Given the description of an element on the screen output the (x, y) to click on. 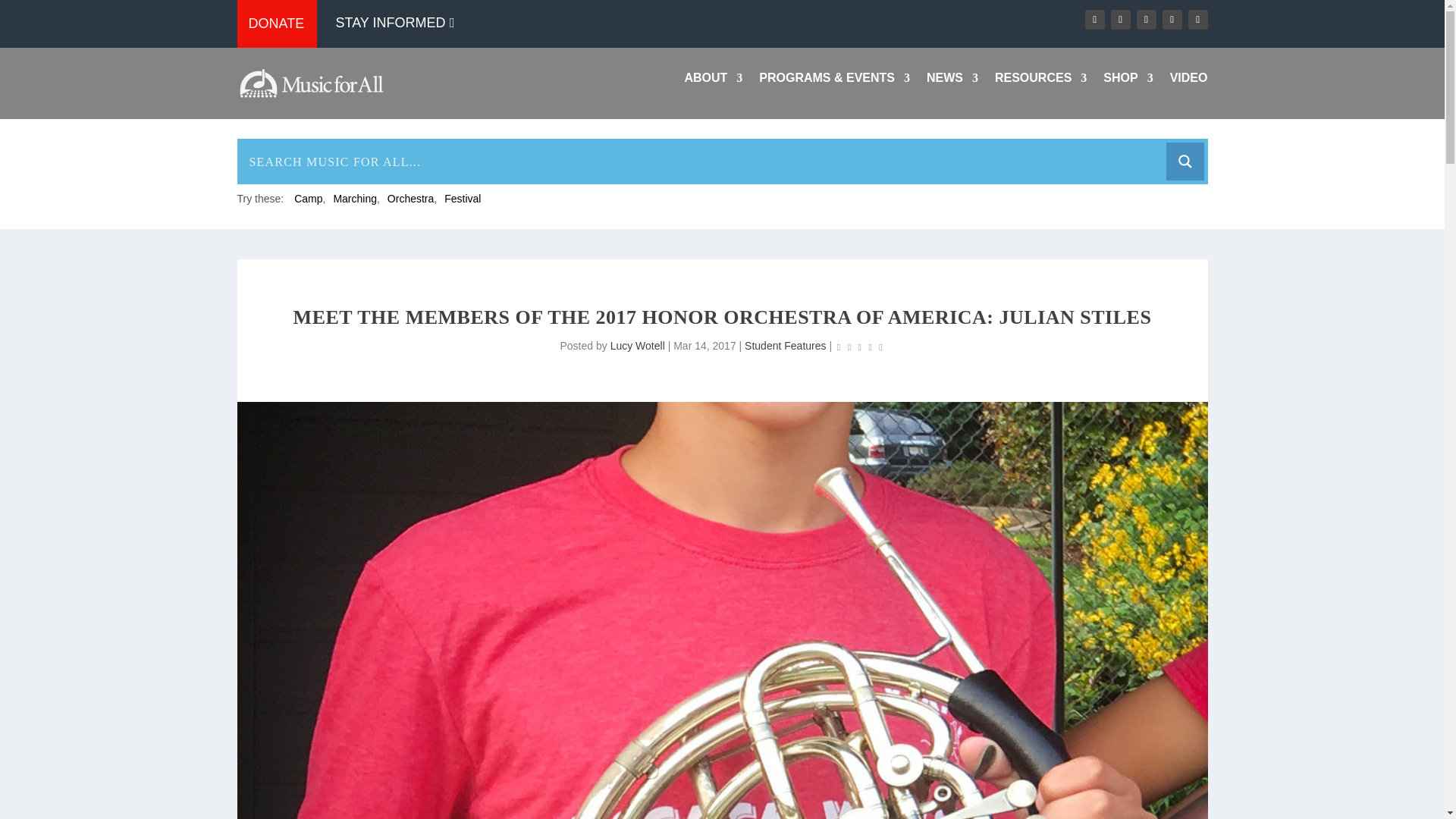
MFA-Logo-horiz (309, 82)
Posts by Lucy Wotell (637, 345)
Rating: 0.00 (859, 346)
Follow on Instagram (1145, 19)
NEWS (952, 80)
Follow on Youtube (1197, 19)
ABOUT (713, 80)
DONATE (275, 23)
Follow on LinkedIn (1170, 19)
Follow on X (1119, 19)
RESOURCES (1040, 80)
Follow on Facebook (1093, 19)
STAY INFORMED (400, 22)
